Given the description of an element on the screen output the (x, y) to click on. 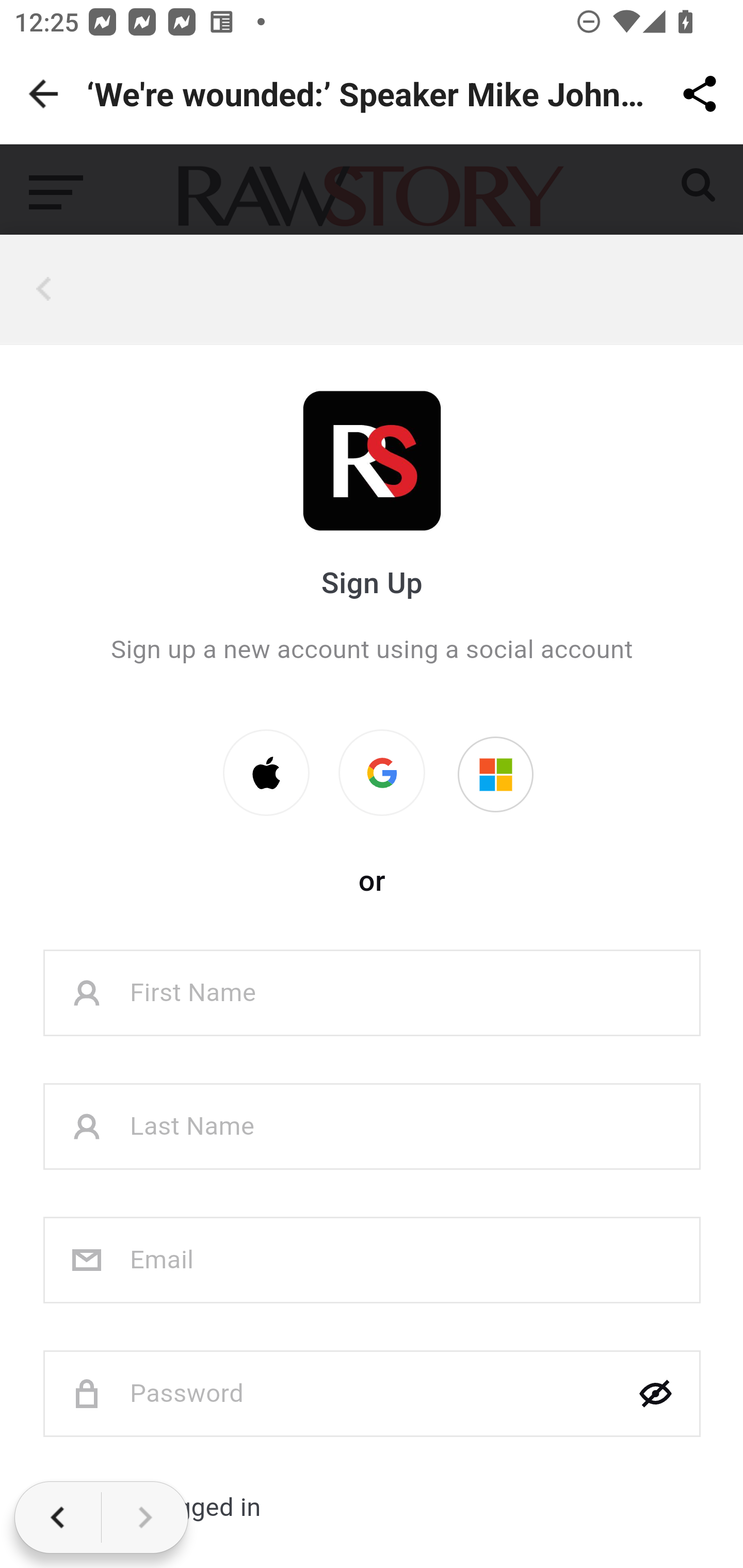
javascript:void(0) (47, 289)
Sign in with APPLE (266, 772)
Sign in with GOOGLE (381, 772)
Sign in with Microsoft (495, 774)
Hide password (655, 1394)
